Given the description of an element on the screen output the (x, y) to click on. 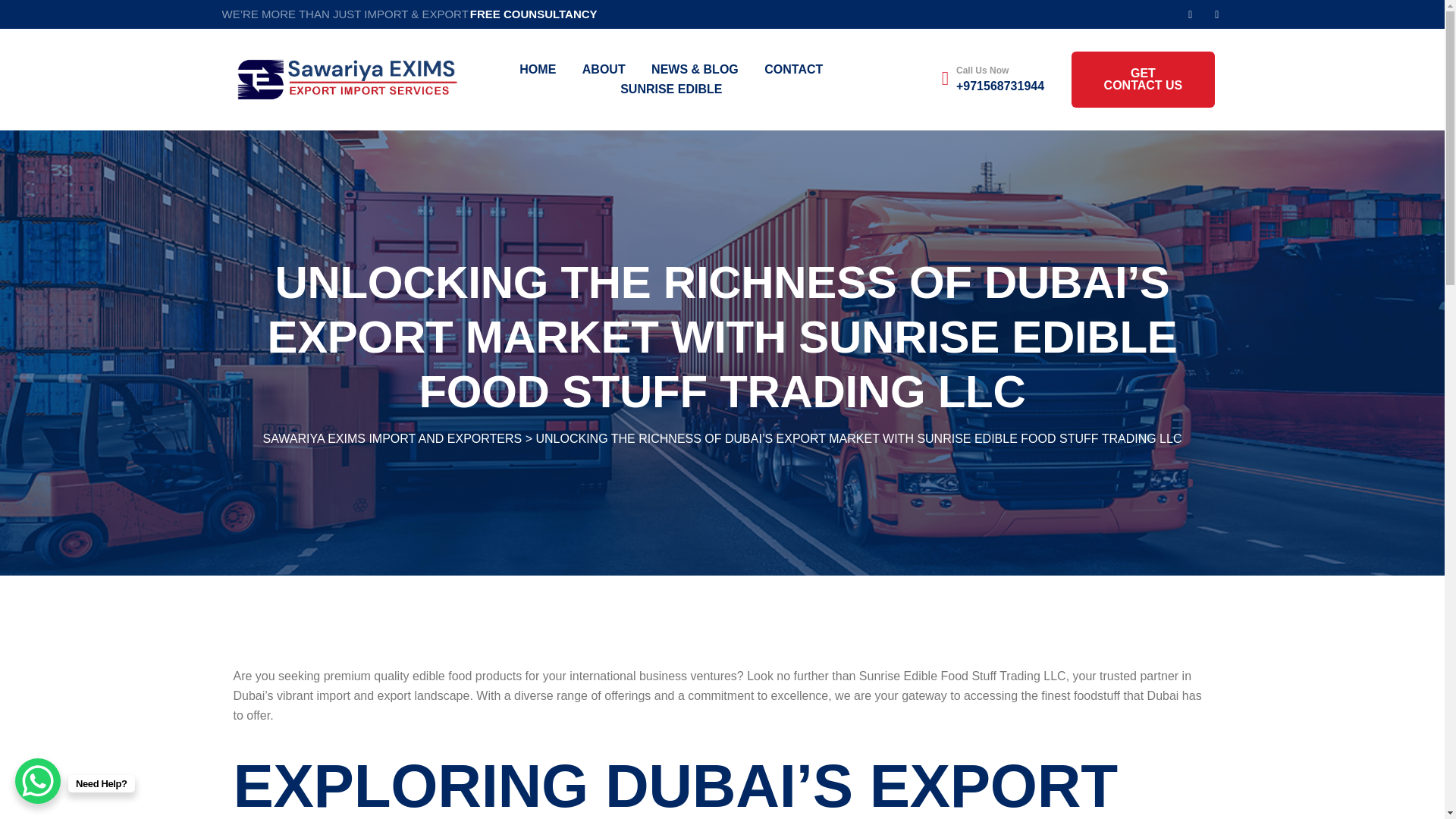
SAWARIYA EXIMS IMPORT AND EXPORTERS (392, 438)
FREE COUNSULTANCY (533, 14)
Go to Sawariya Exims Import And Exporters. (392, 438)
CONTACT (793, 69)
SUNRISE EDIBLE (671, 89)
ABOUT (604, 69)
GET CONTACT US (1142, 79)
HOME (537, 69)
